Given the description of an element on the screen output the (x, y) to click on. 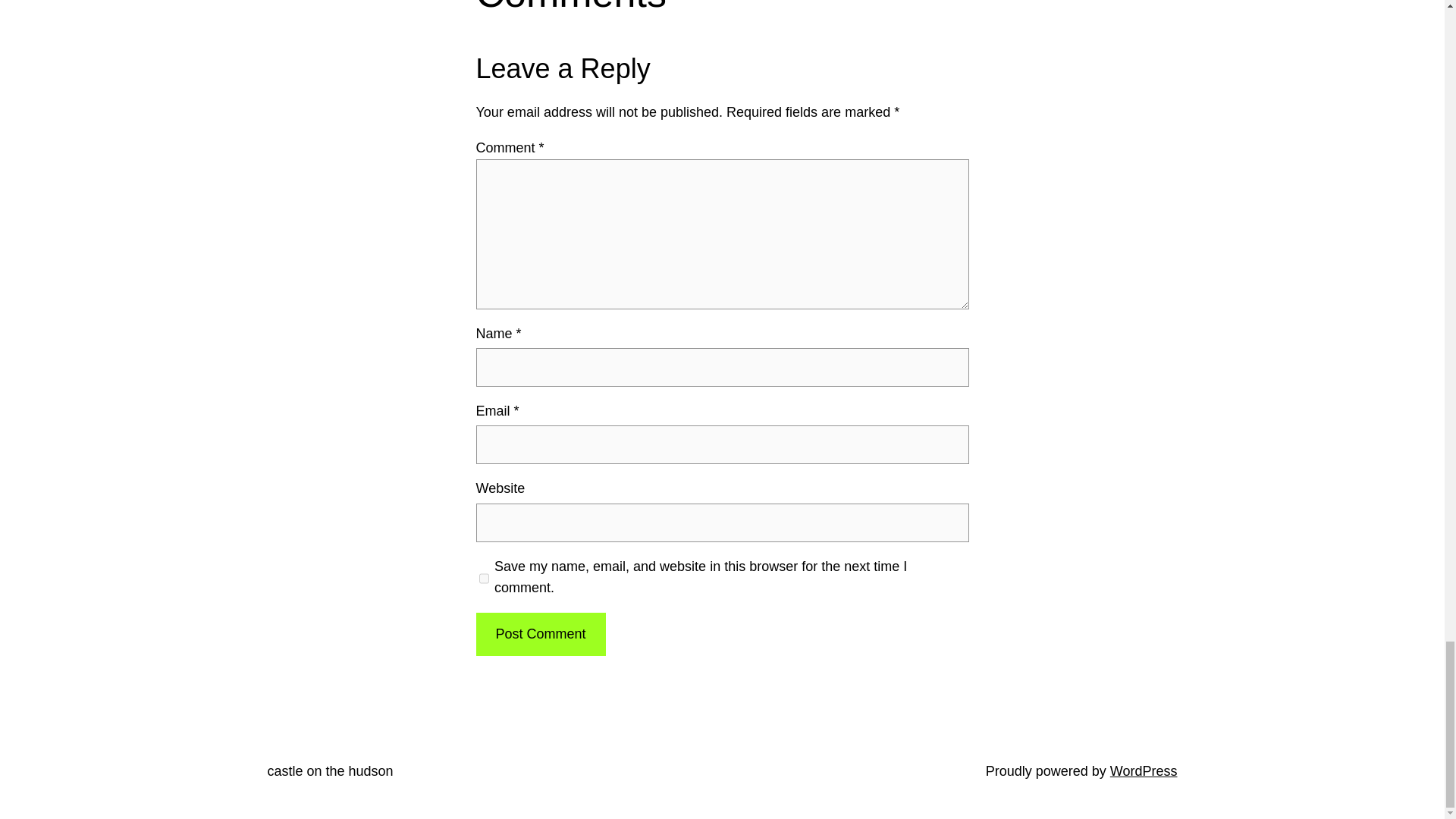
Post Comment (540, 634)
WordPress (1143, 770)
castle on the hudson (329, 770)
Post Comment (540, 634)
